Given the description of an element on the screen output the (x, y) to click on. 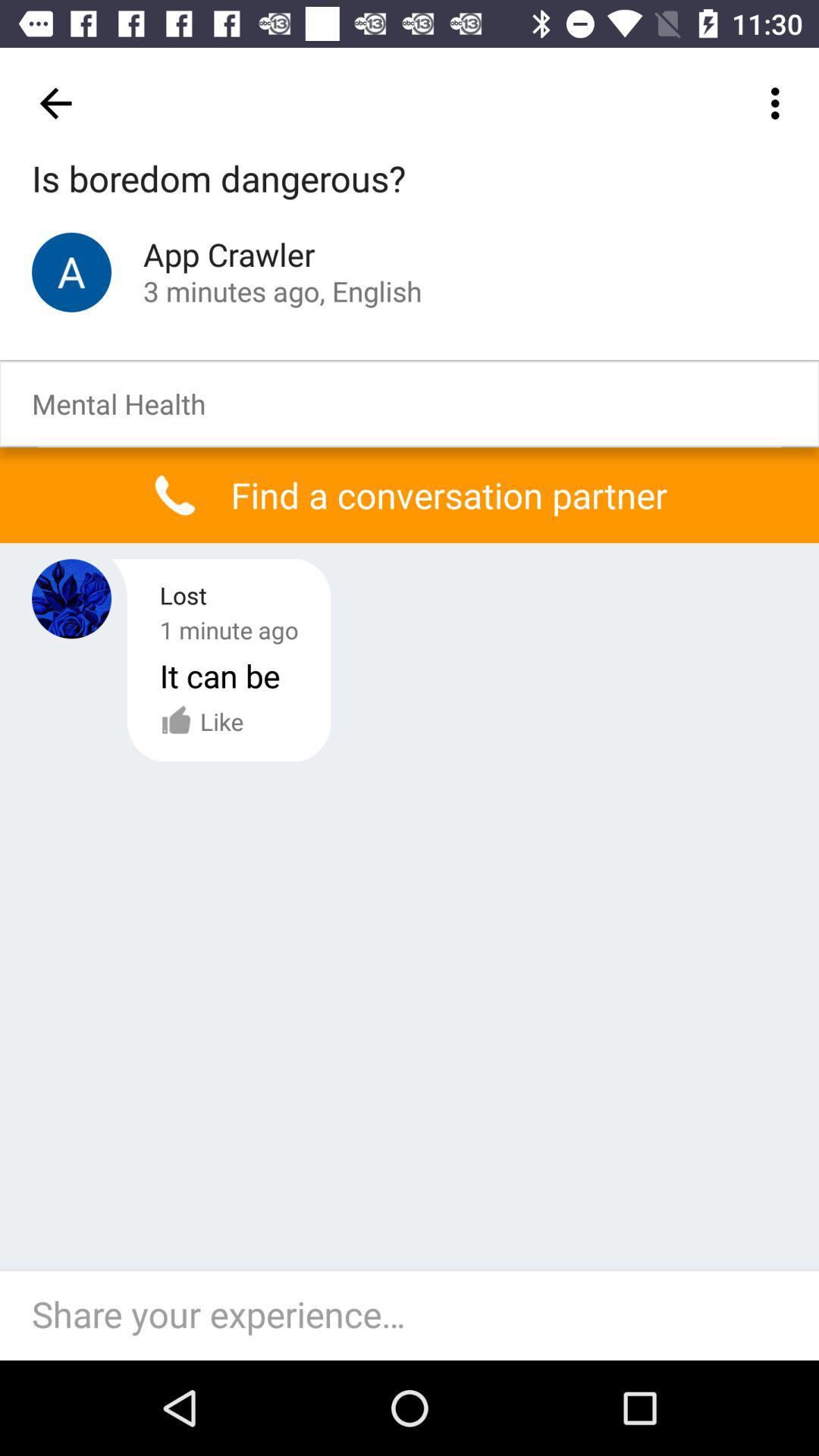
profile picture (71, 598)
